Given the description of an element on the screen output the (x, y) to click on. 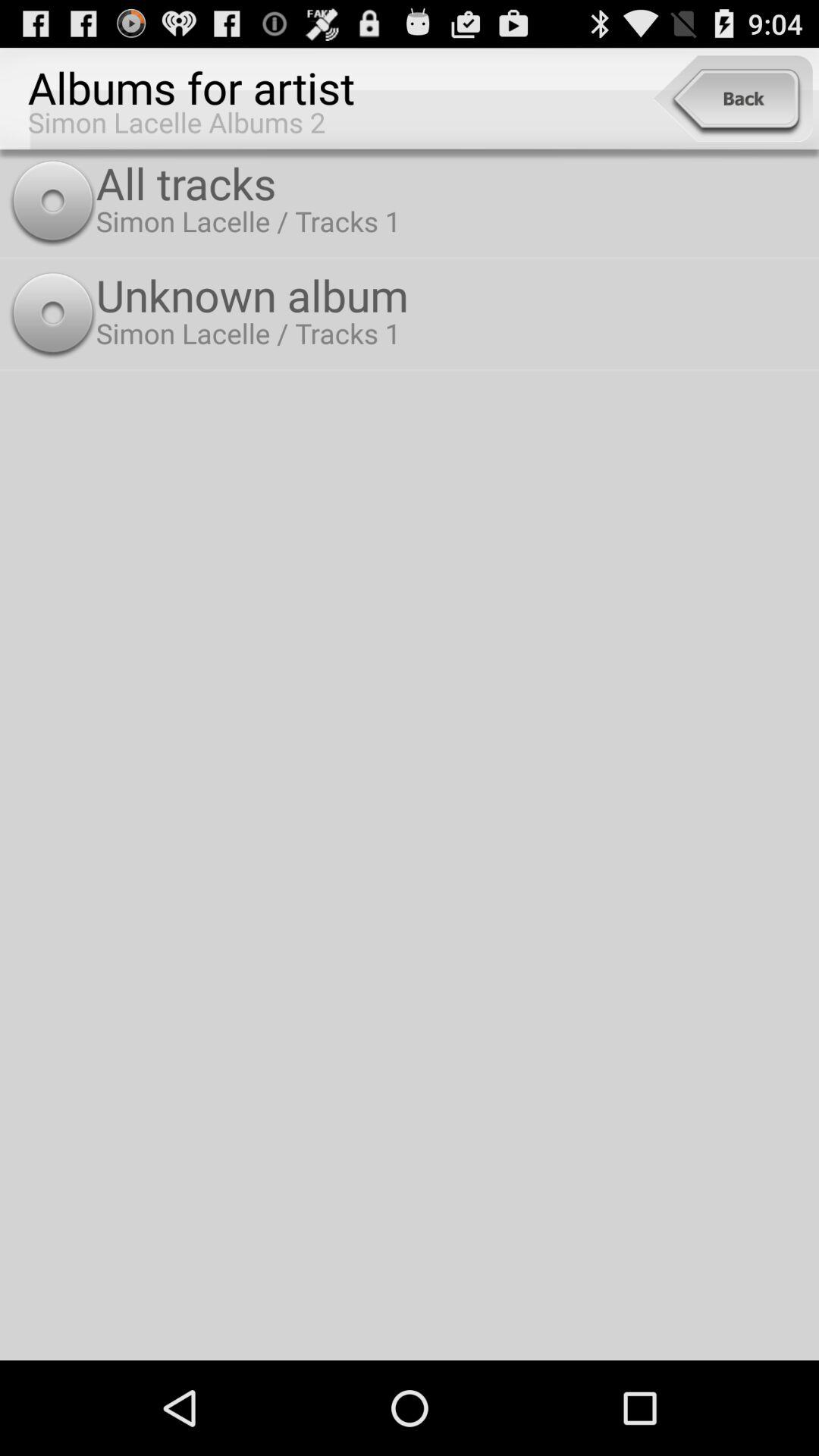
launch the item next to the albums for artist icon (732, 98)
